Given the description of an element on the screen output the (x, y) to click on. 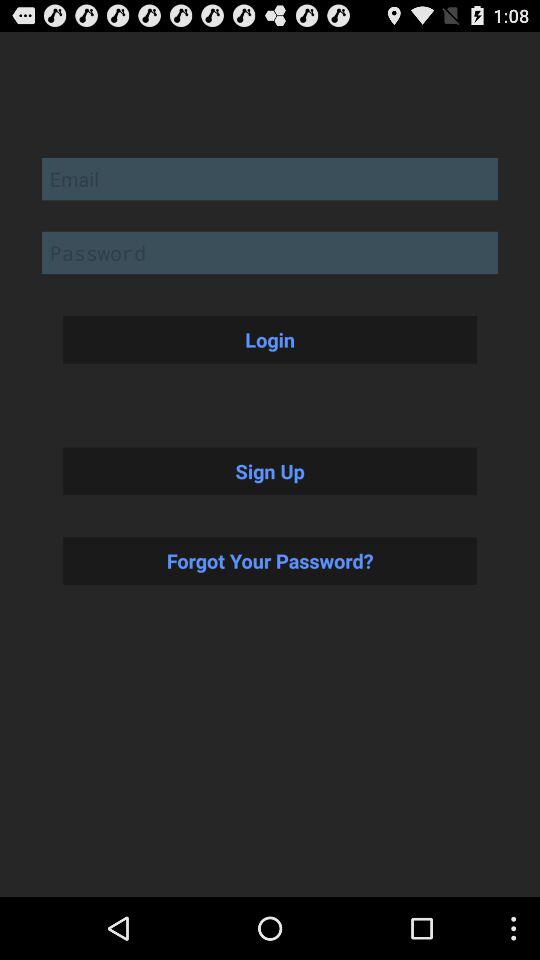
scroll until the forgot your password? icon (269, 560)
